Given the description of an element on the screen output the (x, y) to click on. 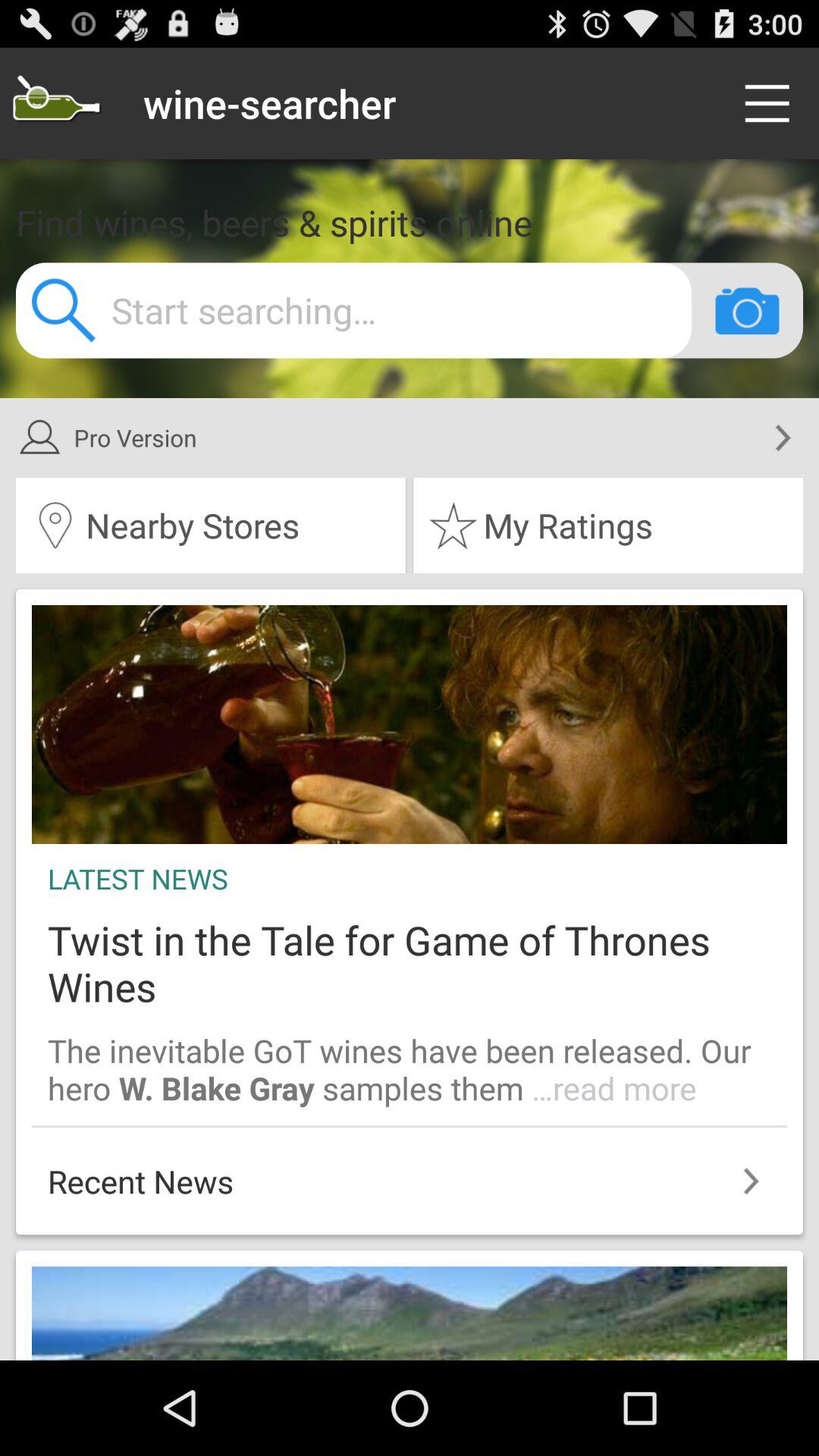
search by photo (747, 310)
